Given the description of an element on the screen output the (x, y) to click on. 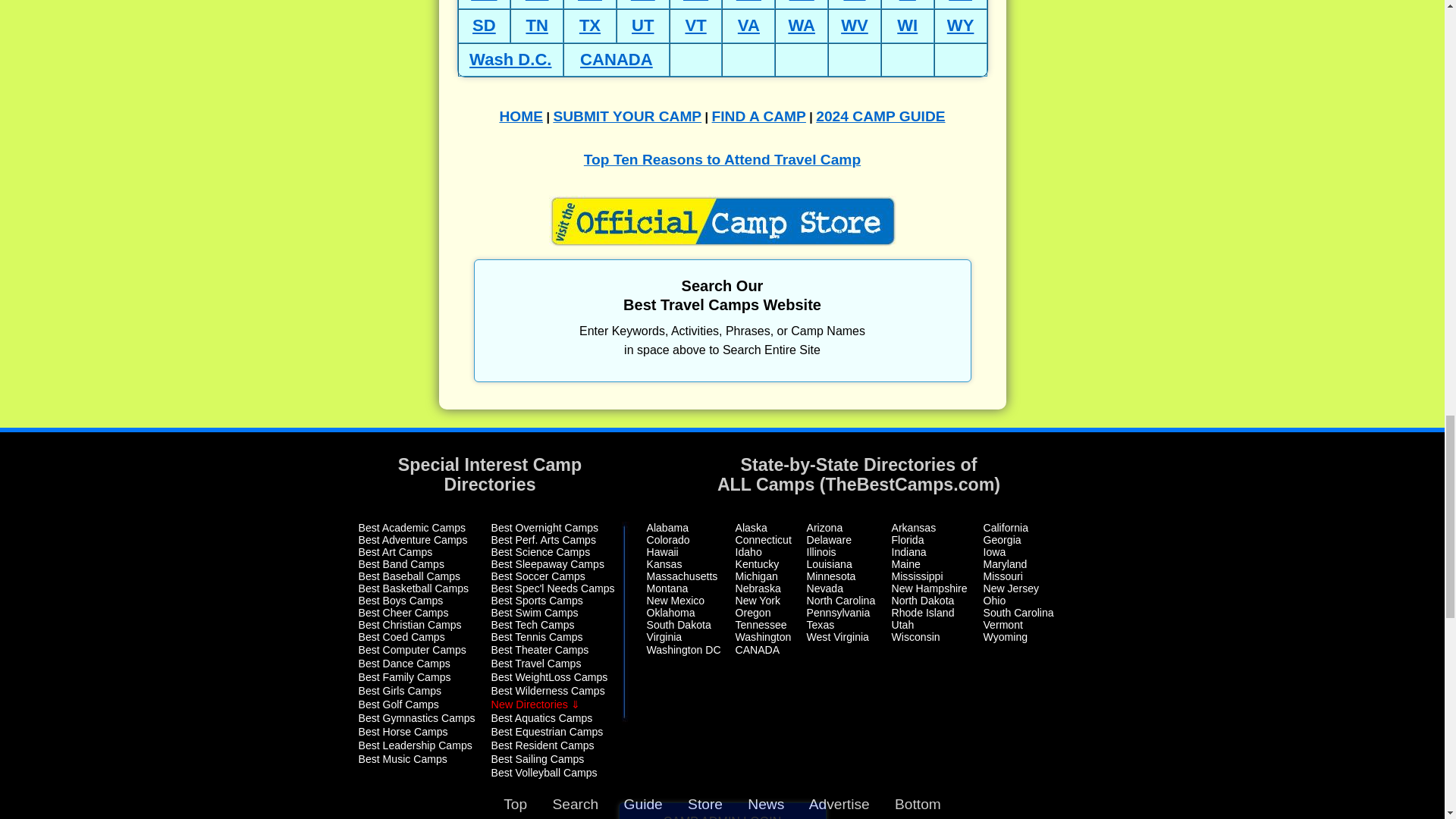
Best Overnight Summer Camps (545, 527)
Best Florida Summer Camps (907, 539)
Best Adventure Summer Camps (412, 539)
Best Art Summer Camps (395, 551)
Best Science Summer Camps (541, 551)
Best Colorado Summer Camps (667, 539)
Best Alabama Summer Camps (667, 527)
Best Delaware Summer Camps (828, 539)
Best Arizona Summer Camps (824, 527)
Best Connecticut Summer Camps (763, 539)
Best Hawaii Summer Camps (662, 551)
Best Georgia Summer Camps (1001, 539)
Best Academic Summer Camps in the US (411, 527)
Best Alaska Summer Camps (751, 527)
Best Performing Arts Summer Camps (543, 539)
